Given the description of an element on the screen output the (x, y) to click on. 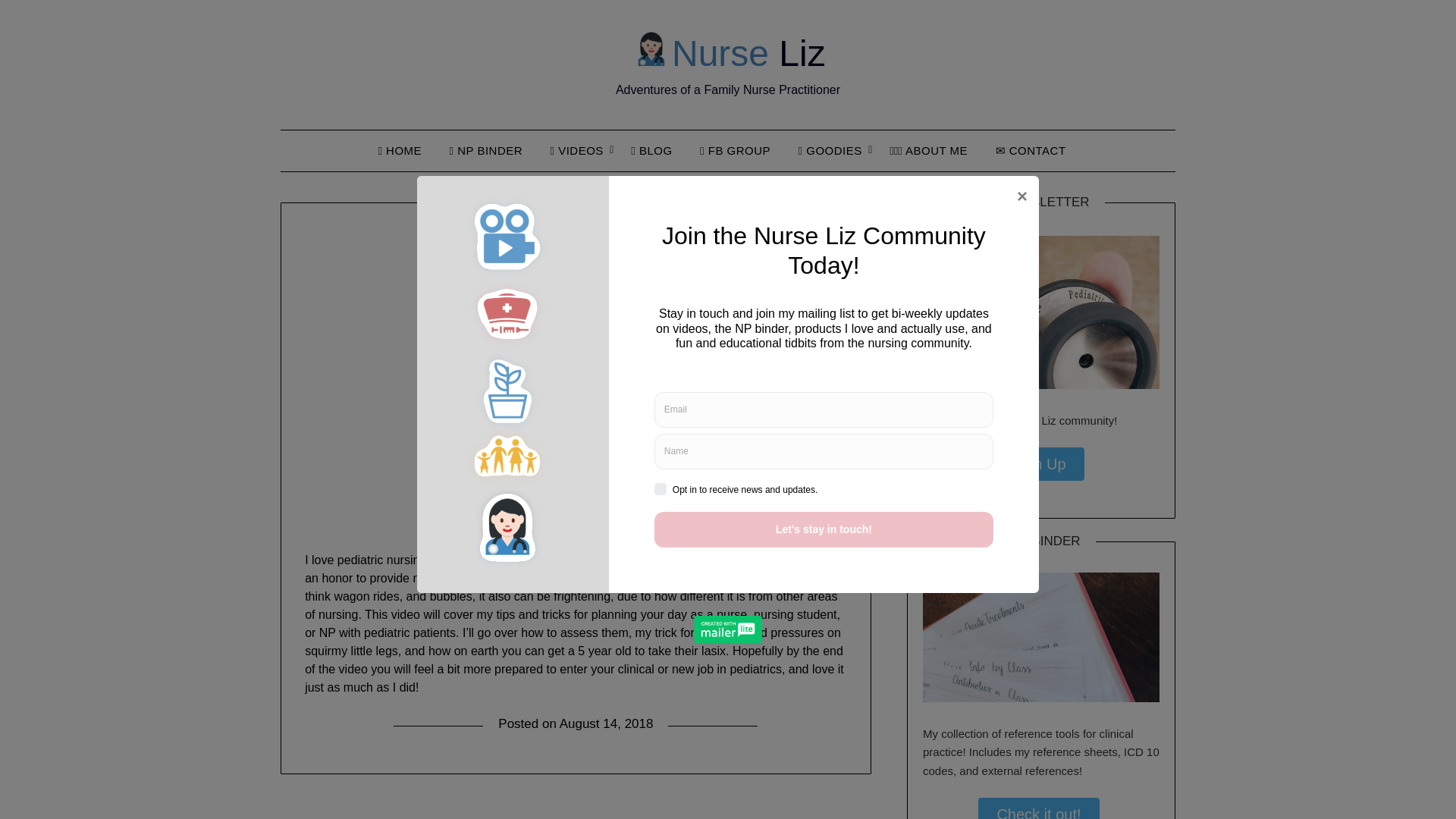
Check it out! (1038, 808)
Sign Up (1037, 464)
Nurse Liz (727, 53)
August 14, 2018 (606, 723)
